Given the description of an element on the screen output the (x, y) to click on. 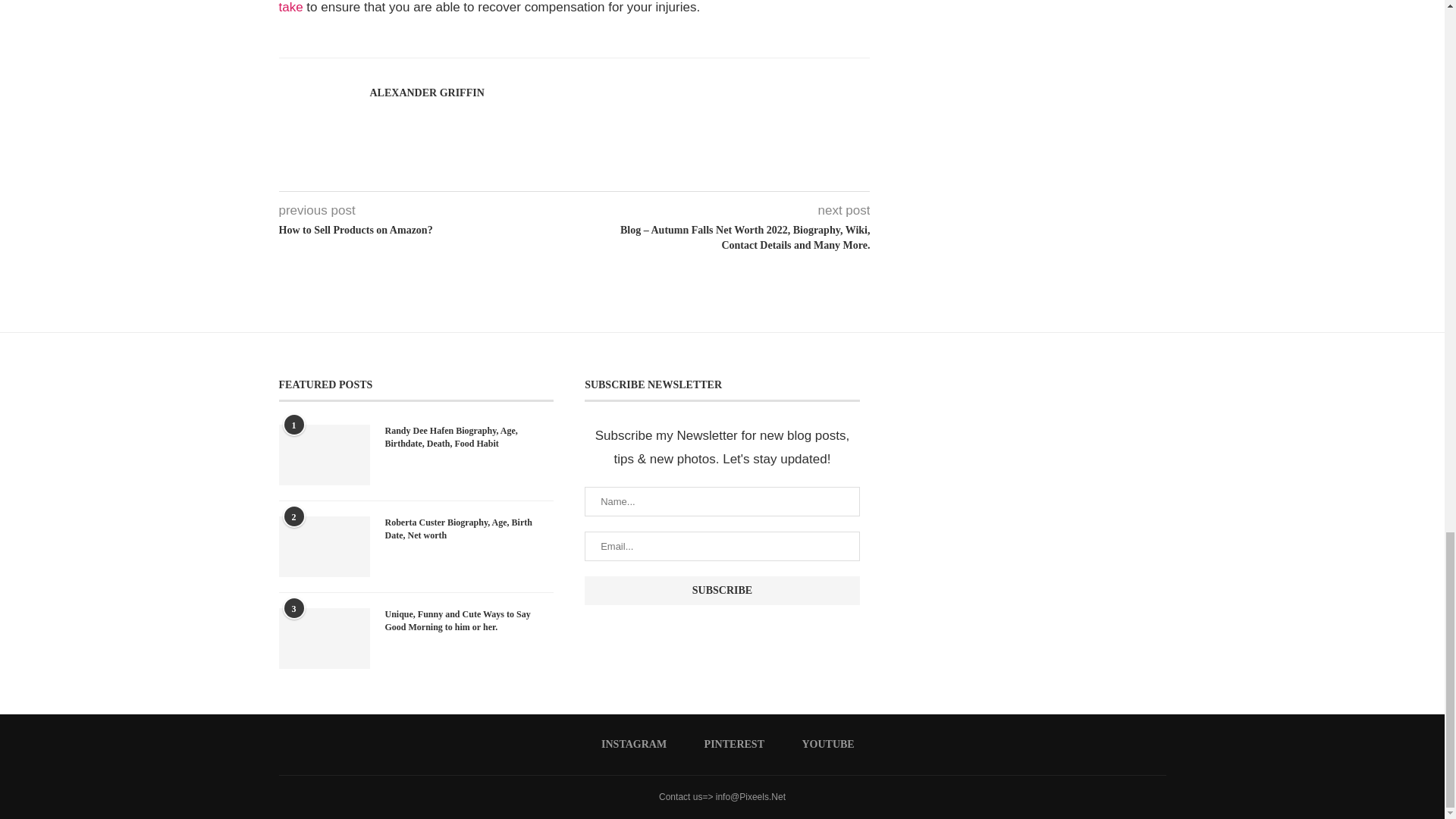
Roberta Custer Biography, Age, Birth Date, Net worth (324, 546)
How to Sell Products on Amazon? (427, 230)
Randy Dee Hafen Biography, Age, Birthdate, Death, Food Habit (324, 455)
ALEXANDER GRIFFIN (426, 92)
Subscribe (722, 590)
PINTEREST (728, 744)
Randy Dee Hafen Biography, Age, Birthdate, Death, Food Habit (469, 437)
Randy Dee Hafen Biography, Age, Birthdate, Death, Food Habit (469, 437)
